Given the description of an element on the screen output the (x, y) to click on. 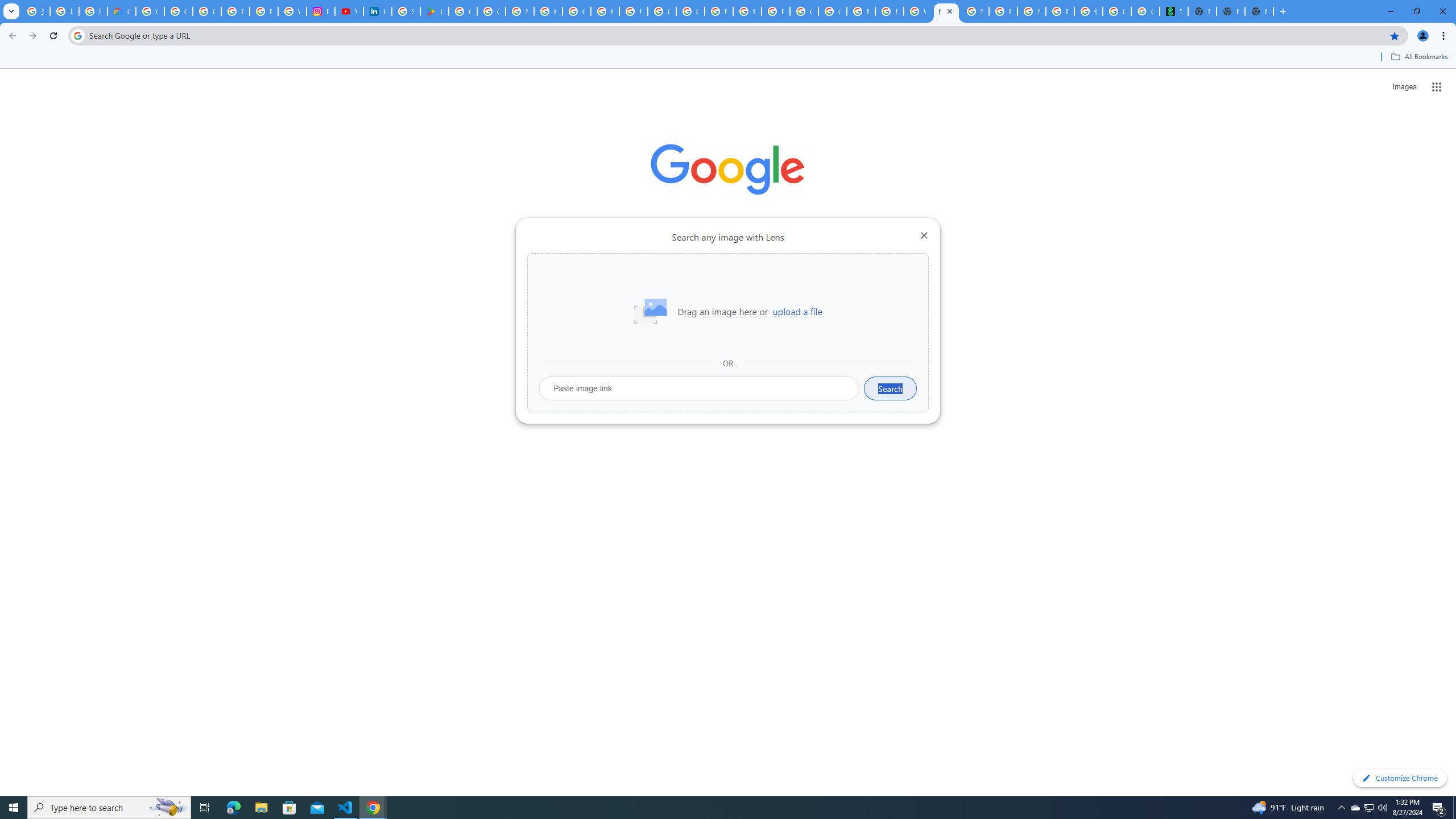
Bookmarks (728, 58)
Sign in - Google Accounts (974, 11)
Last Shelter: Survival - Apps on Google Play (434, 11)
Search icon (77, 35)
Sign in - Google Accounts (519, 11)
